Given the description of an element on the screen output the (x, y) to click on. 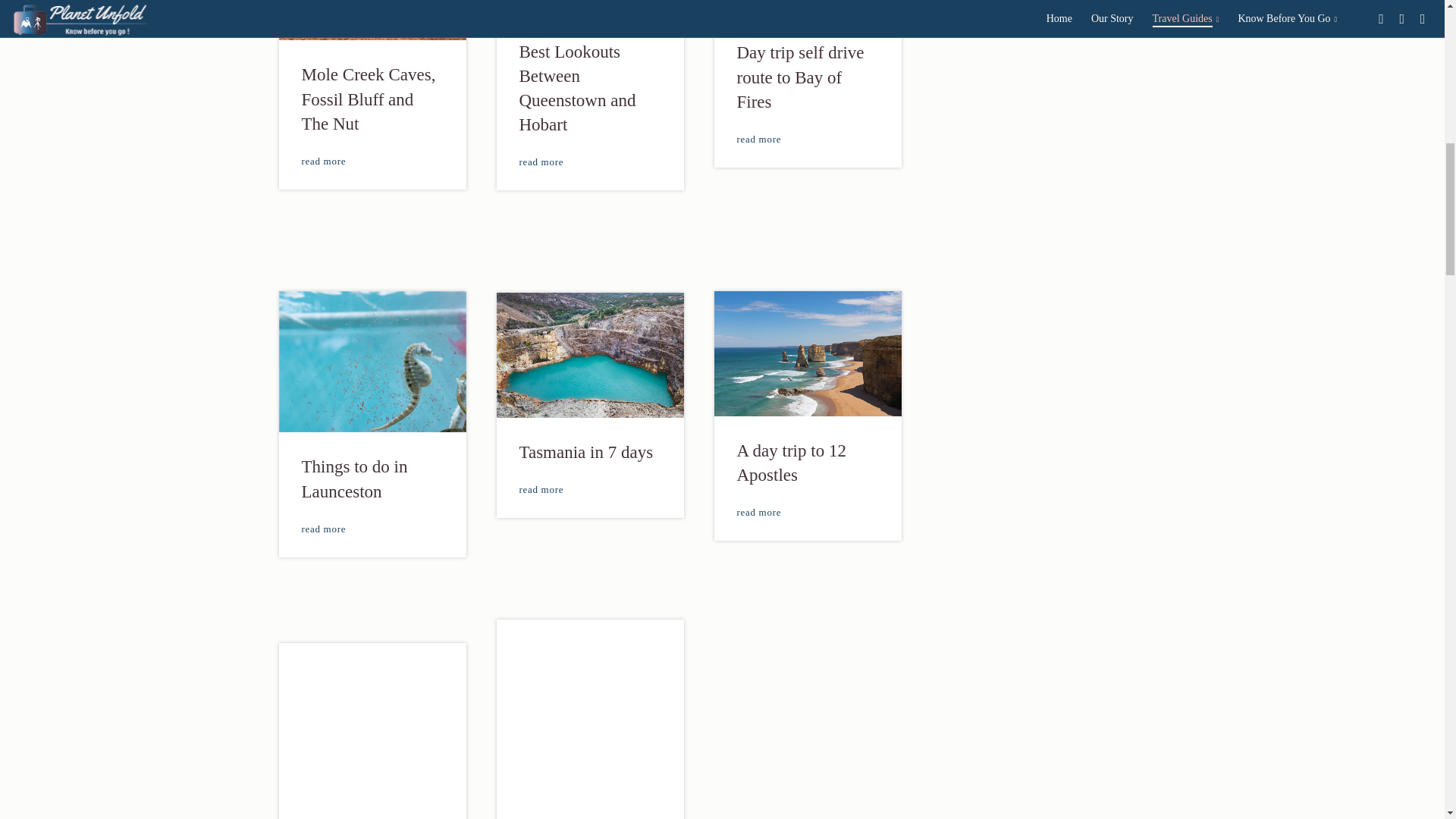
Advertisement (1054, 58)
